Given the description of an element on the screen output the (x, y) to click on. 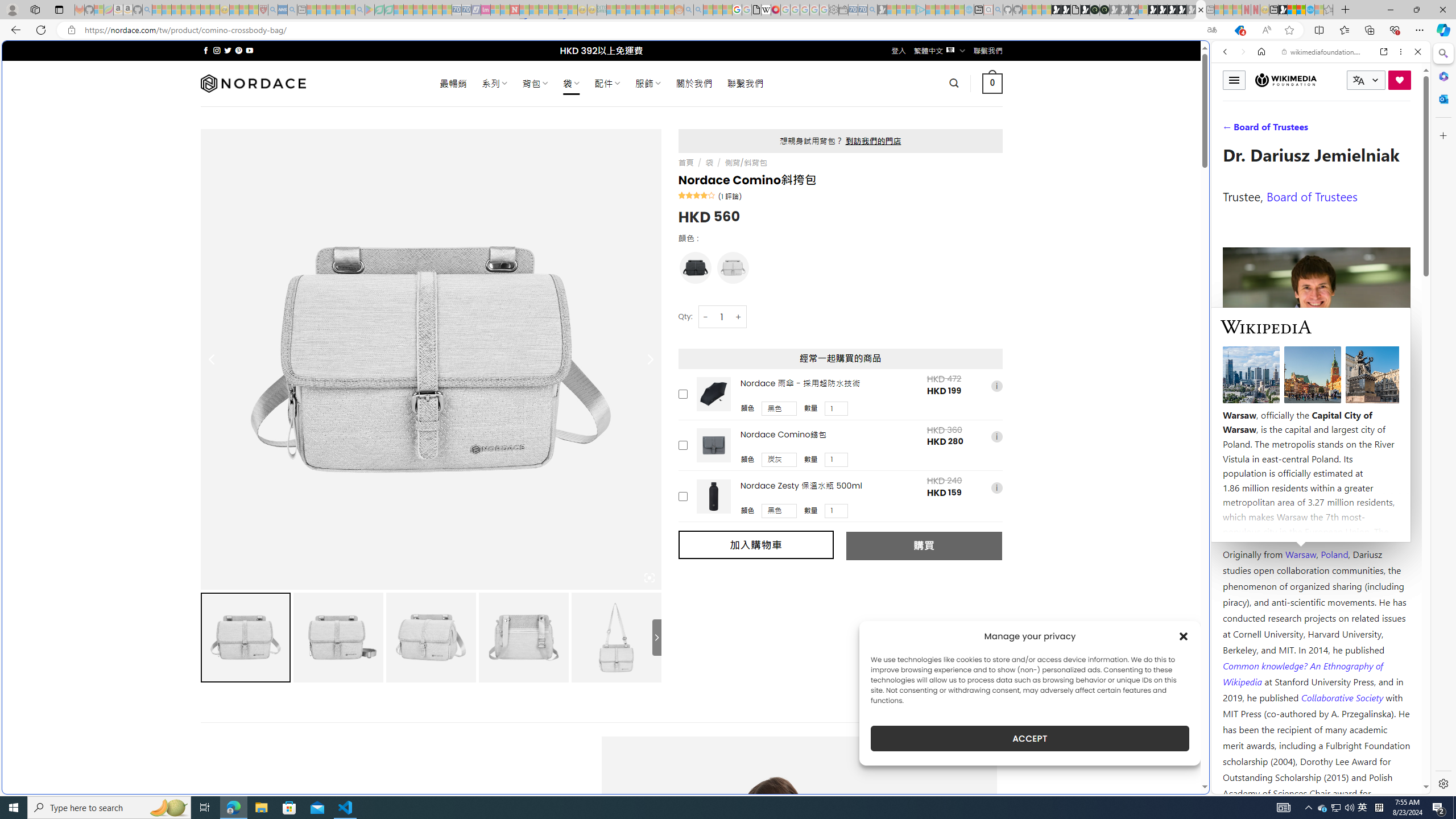
Collaborative Society  (1343, 697)
Warsaw (1300, 554)
Bluey: Let's Play! - Apps on Google Play - Sleeping (369, 9)
